Given the description of an element on the screen output the (x, y) to click on. 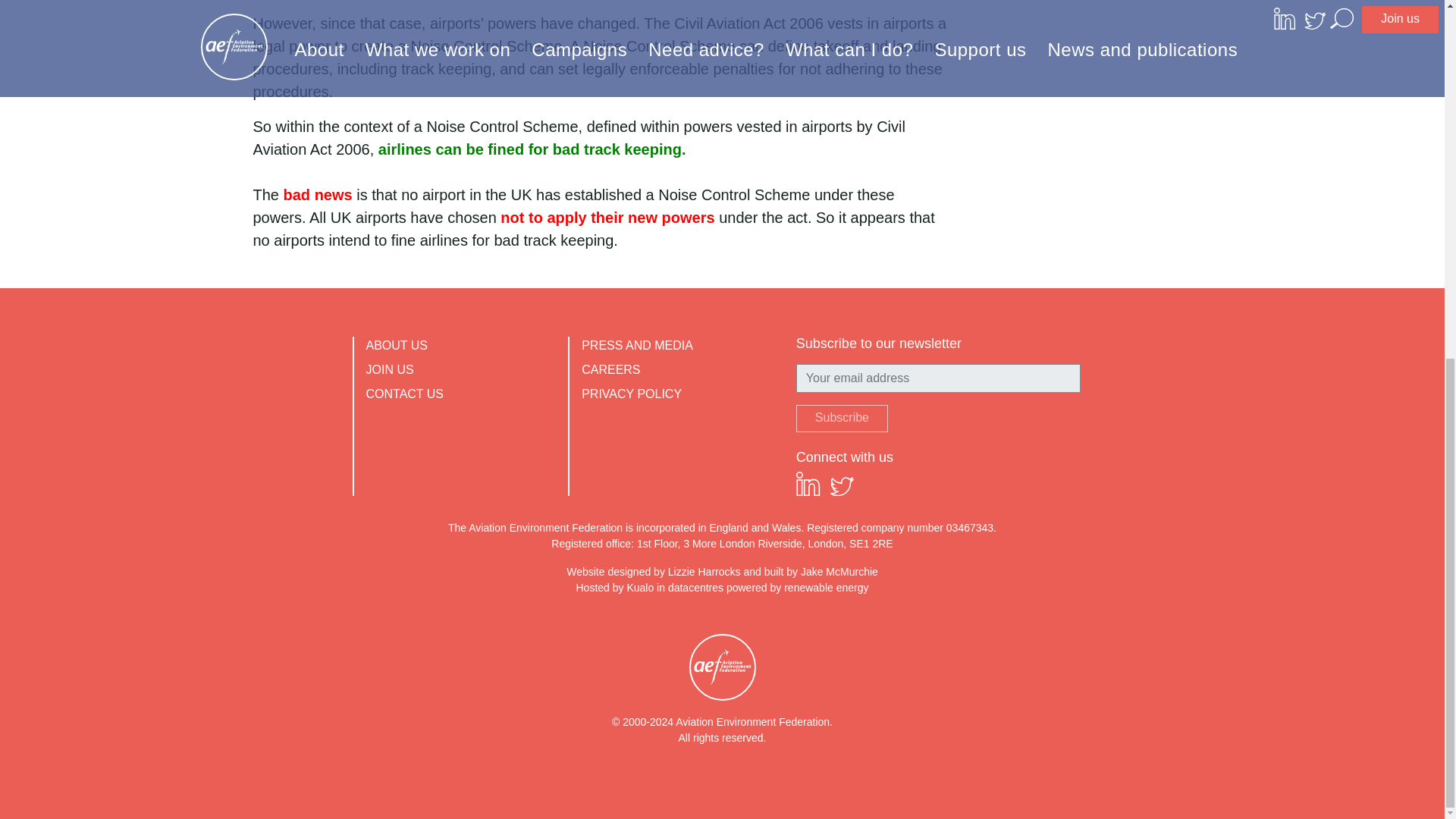
Subscribe (842, 418)
